Given the description of an element on the screen output the (x, y) to click on. 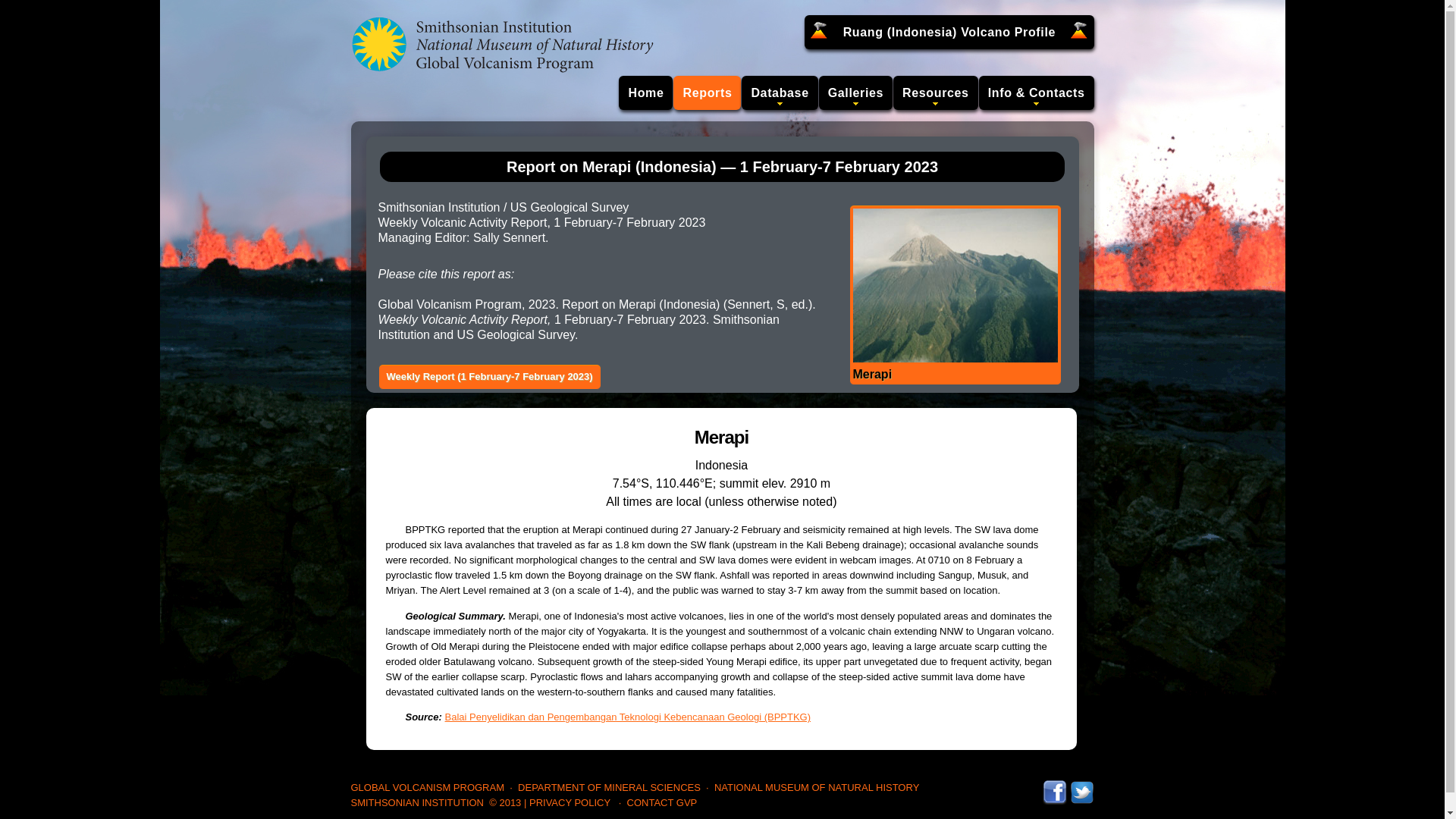
Link to Copyright Notice (505, 802)
Merapi (954, 294)
Facebook (1054, 787)
Database (778, 92)
Link to Privacy Notice (569, 802)
Galleries (855, 92)
Twitter (1080, 787)
Send email to GVP (662, 802)
Resources (935, 92)
Home (645, 92)
Reports (706, 92)
